Given the description of an element on the screen output the (x, y) to click on. 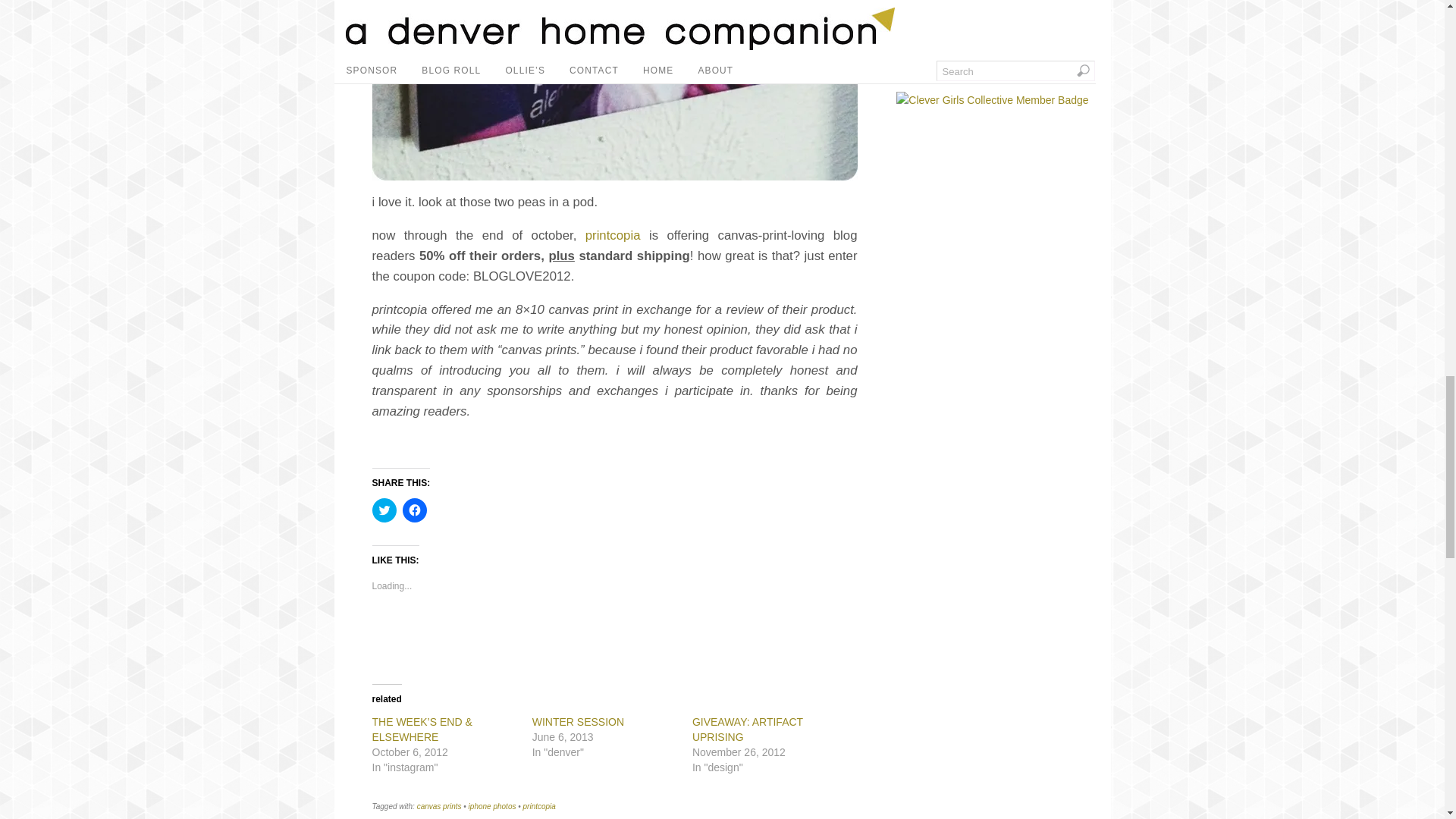
WINTER SESSION (578, 721)
Click to share on Twitter (383, 509)
printcopia (612, 235)
GIVEAWAY: ARTIFACT UPRISING (748, 728)
printcopia (539, 806)
WINTER SESSION (578, 721)
GIVEAWAY: ARTIFACT UPRISING (748, 728)
Click to share on Facebook (413, 509)
canvas prints (438, 806)
Like or Reblog (614, 638)
iphone photos (492, 806)
